Given the description of an element on the screen output the (x, y) to click on. 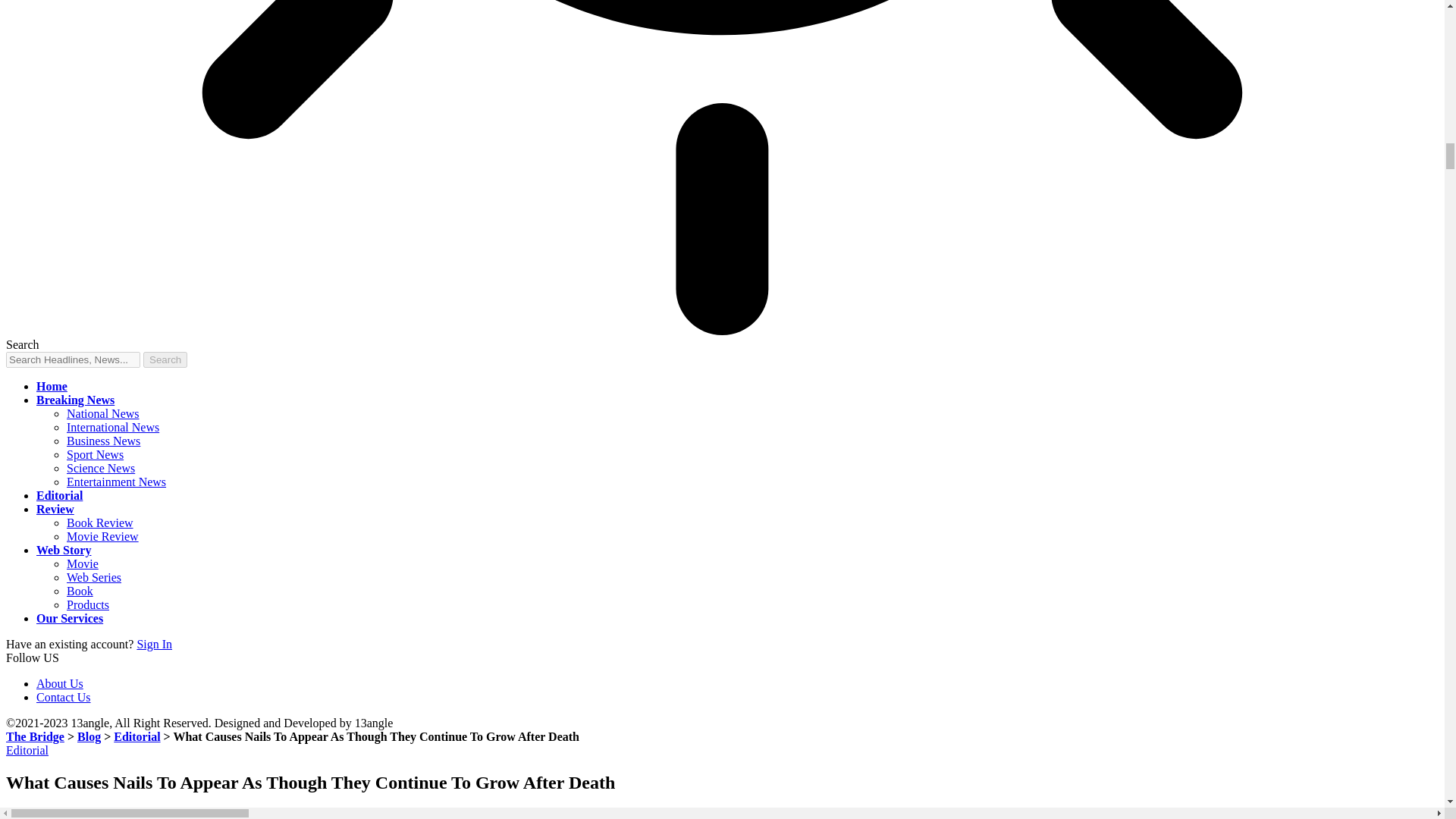
Go to The Bridge. (34, 736)
Search (164, 359)
Go to the Editorial Category archives. (136, 736)
Go to Blog. (88, 736)
